Given the description of an element on the screen output the (x, y) to click on. 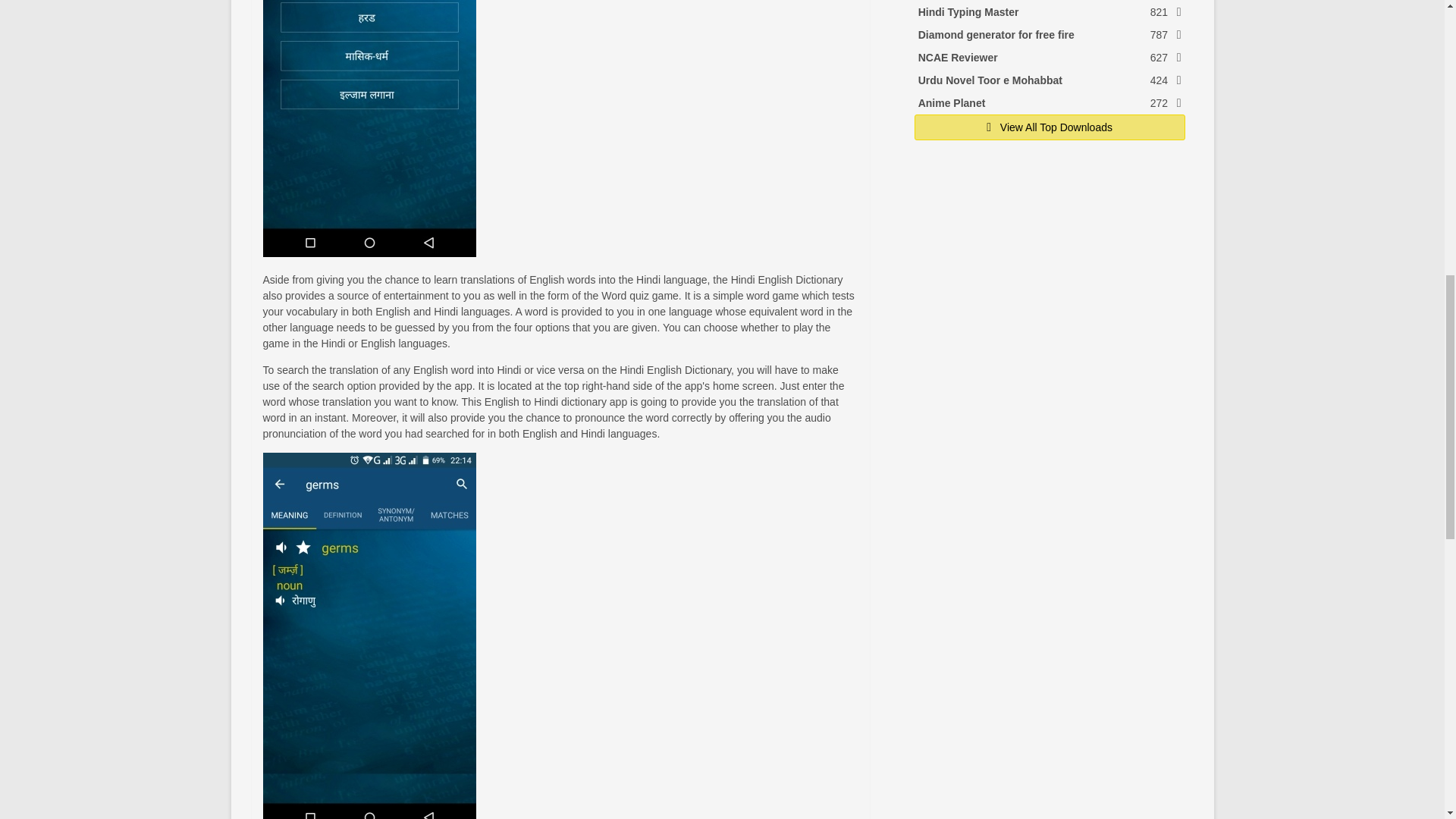
  View All Top Downloads (1049, 126)
